Given the description of an element on the screen output the (x, y) to click on. 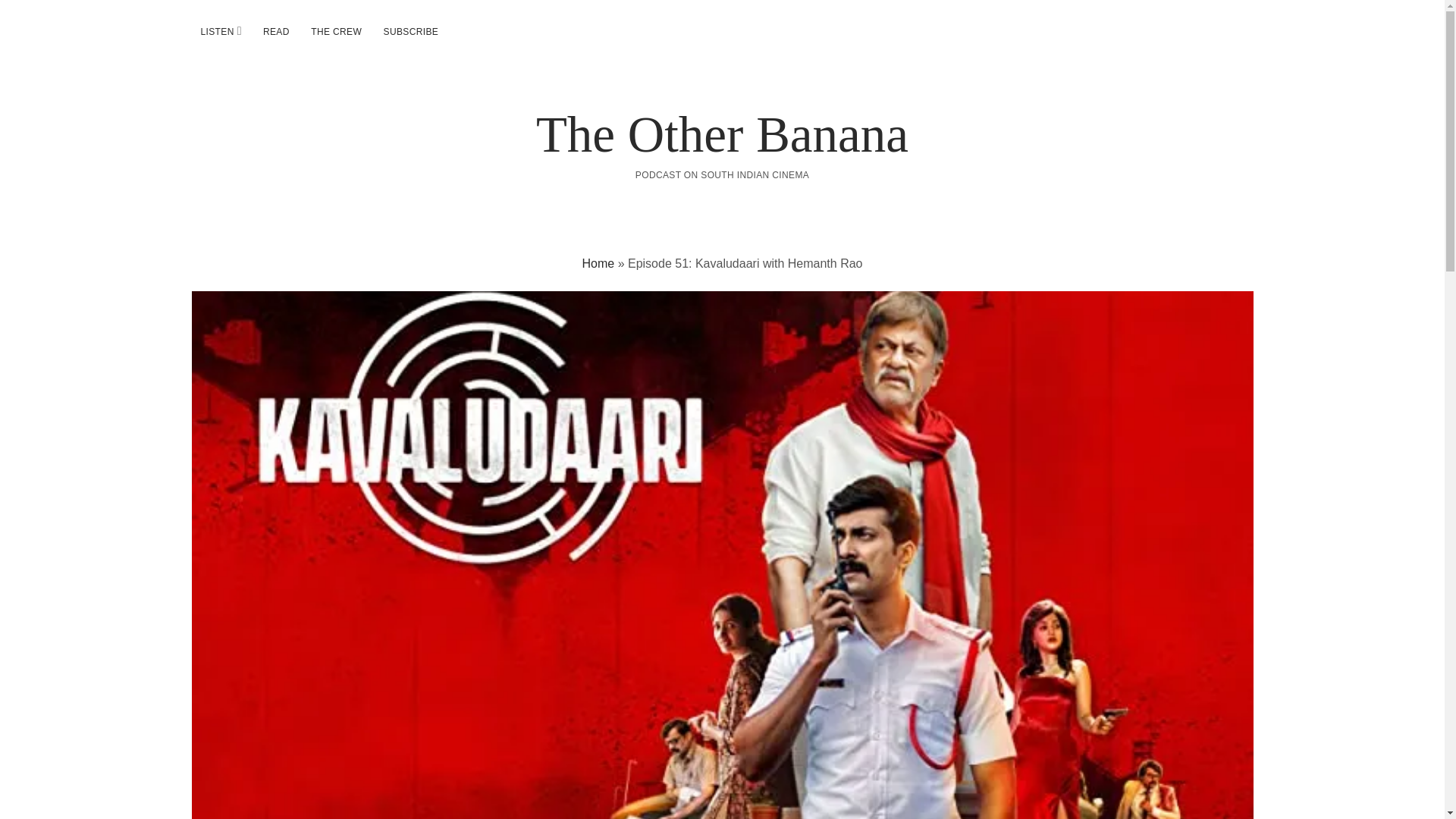
The Other Banana (721, 134)
READ (275, 31)
SUBSCRIBE (411, 31)
THE CREW (336, 31)
LISTEN (216, 31)
Home (598, 263)
